Given the description of an element on the screen output the (x, y) to click on. 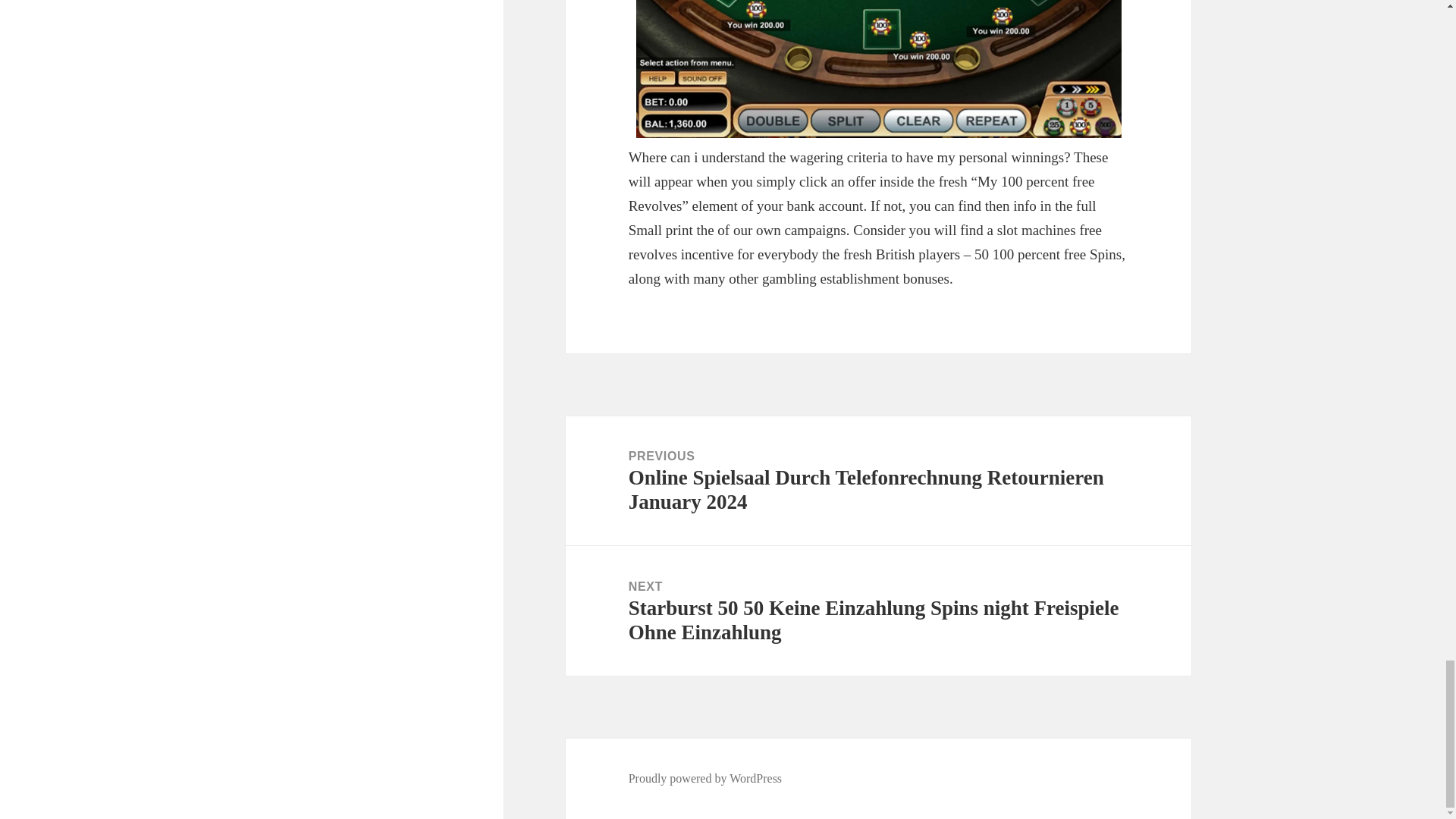
Proudly powered by WordPress (704, 778)
